Given the description of an element on the screen output the (x, y) to click on. 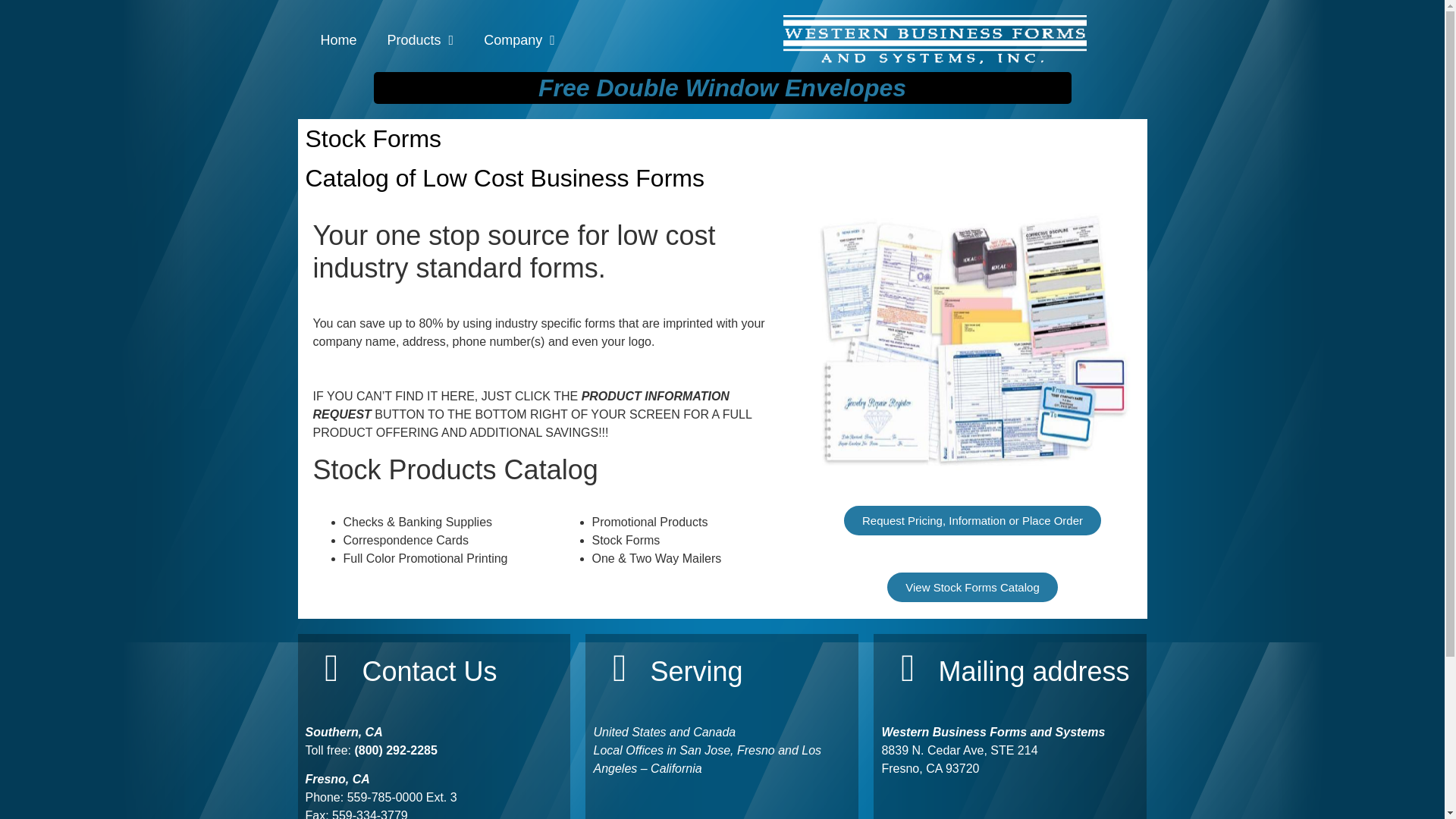
Products (420, 39)
Company (519, 39)
Home (337, 39)
